Given the description of an element on the screen output the (x, y) to click on. 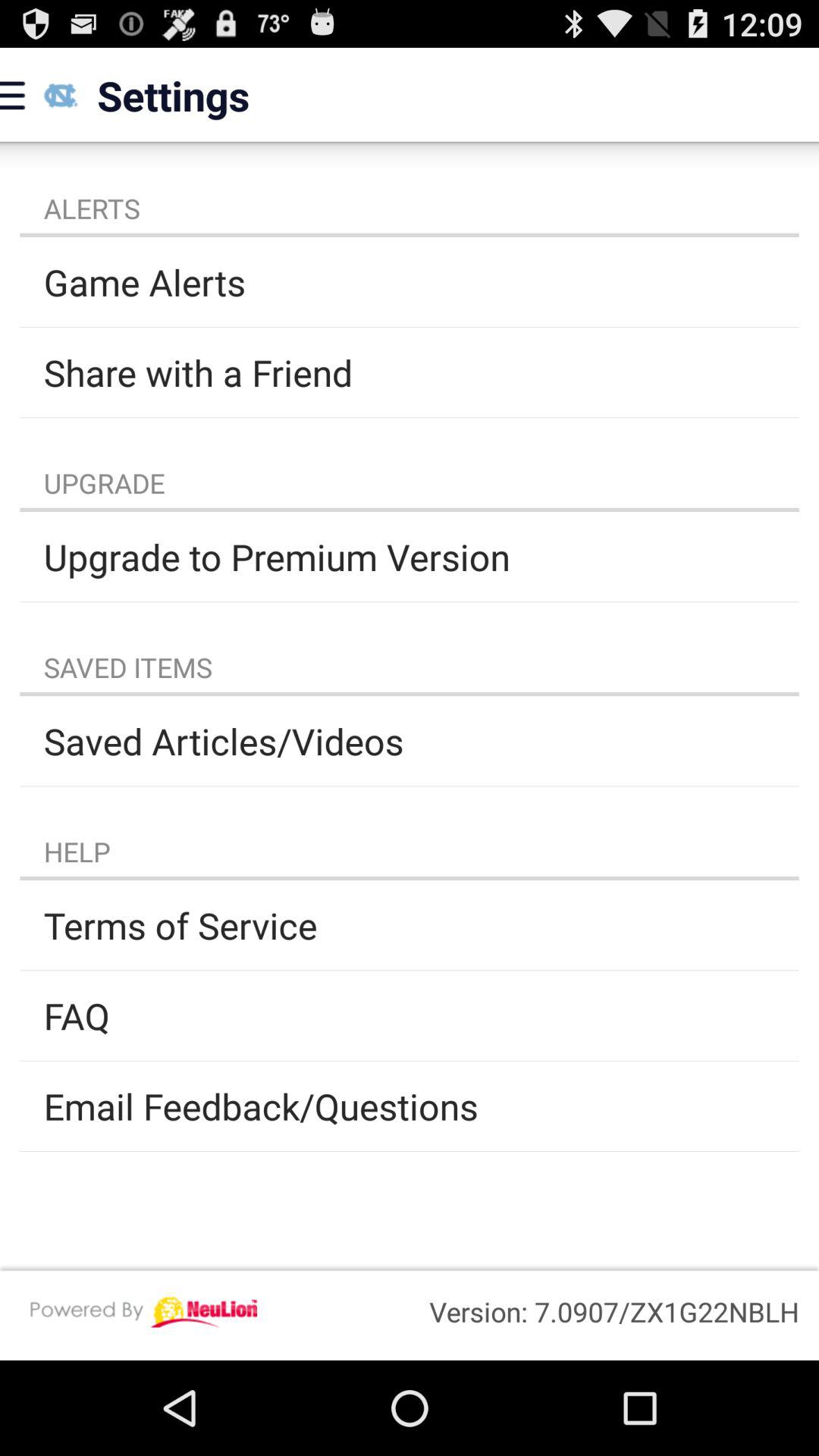
tap the saved articles/videos icon (409, 741)
